Given the description of an element on the screen output the (x, y) to click on. 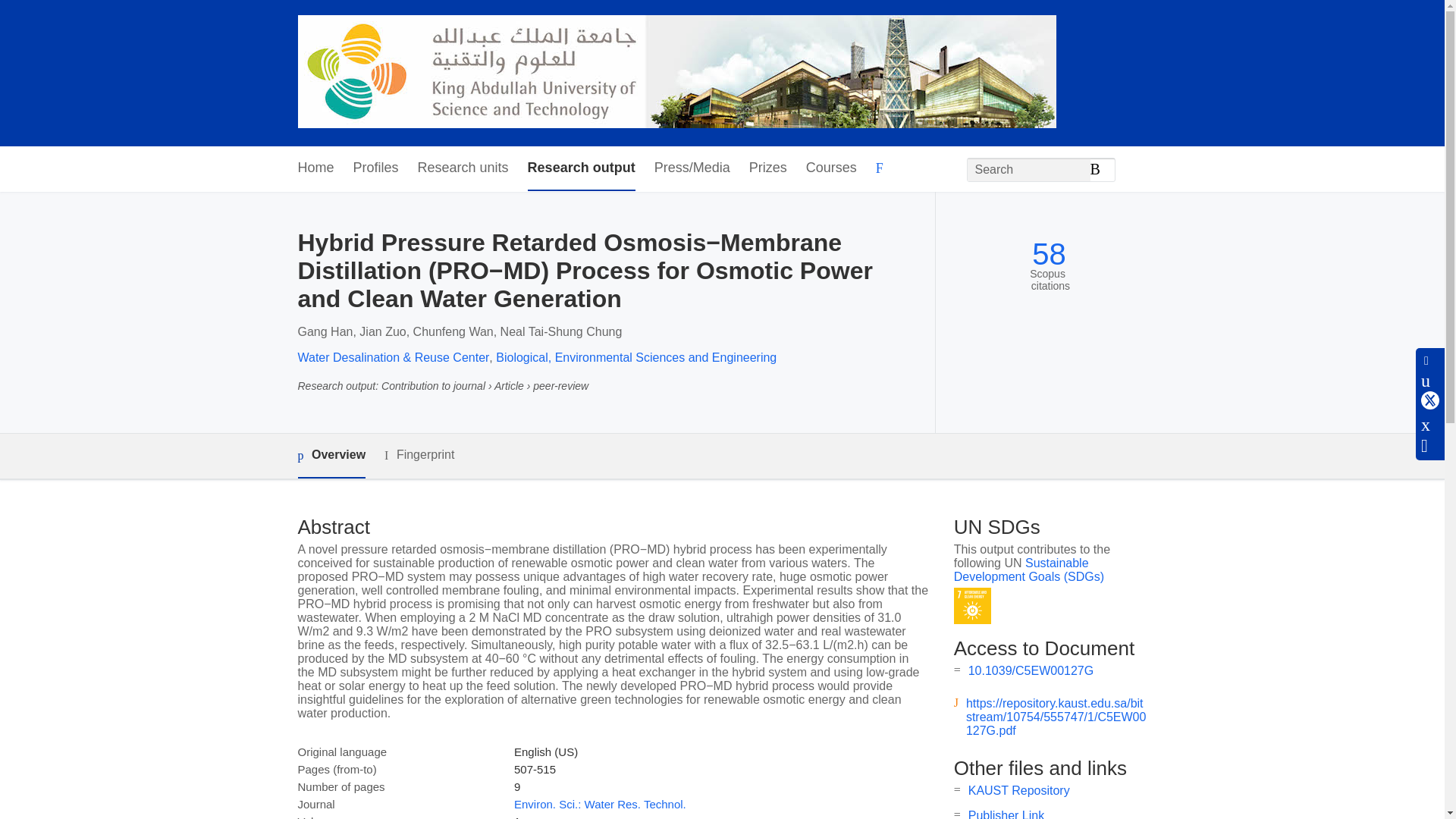
Biological, Environmental Sciences and Engineering (636, 357)
KAUST Repository (1019, 789)
58 (1048, 253)
Fingerprint (419, 455)
Research output (580, 168)
KAUST PORTAL FOR RESEARCHERS AND STUDENTS Home (676, 73)
Publisher Link (1006, 814)
Environ. Sci.: Water Res. Technol. (599, 803)
Courses (831, 168)
